Given the description of an element on the screen output the (x, y) to click on. 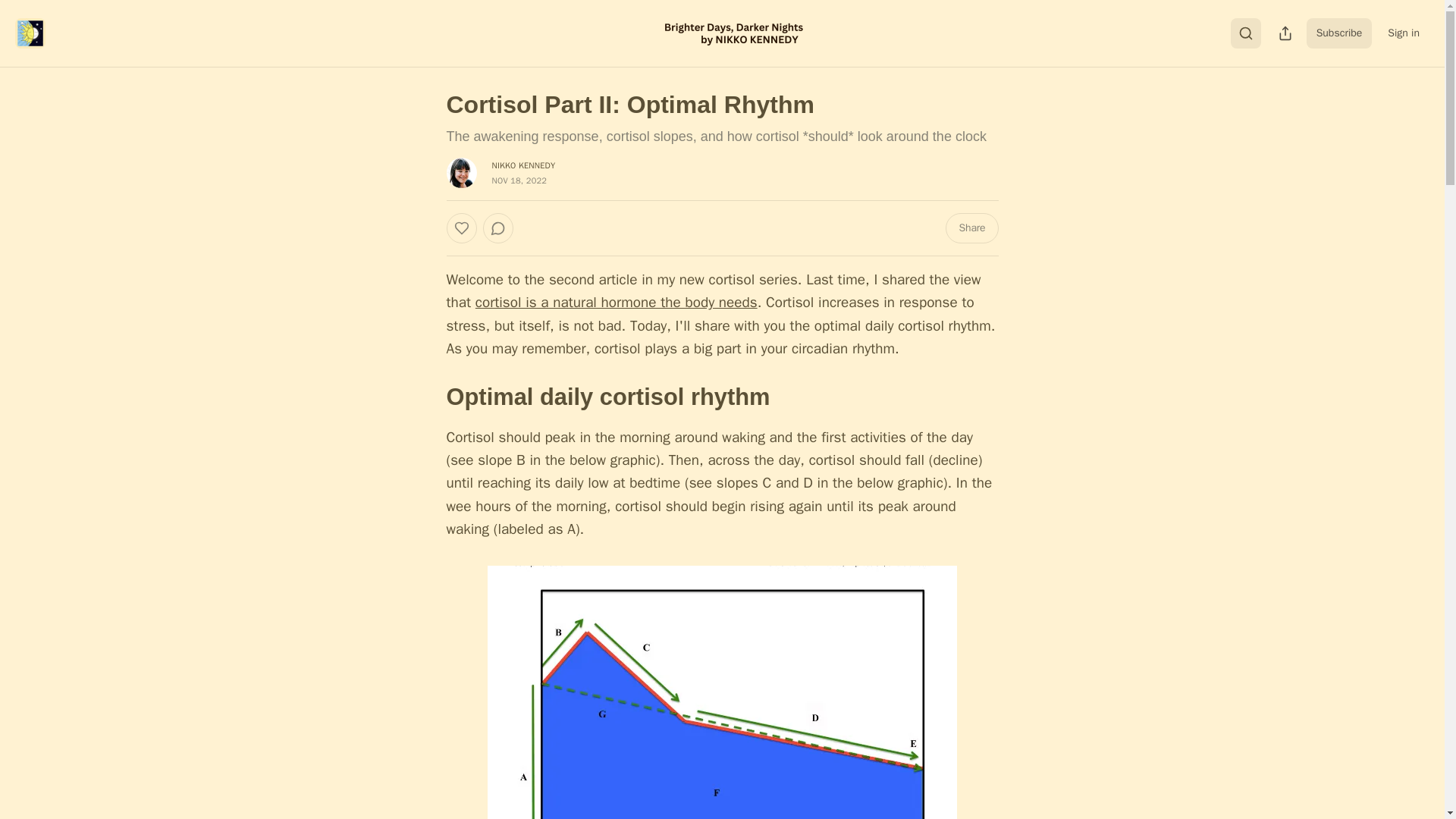
Sign in (1403, 33)
Share (970, 227)
NIKKO KENNEDY (523, 164)
Subscribe (1339, 33)
cortisol is a natural hormone the body needs (616, 302)
